Given the description of an element on the screen output the (x, y) to click on. 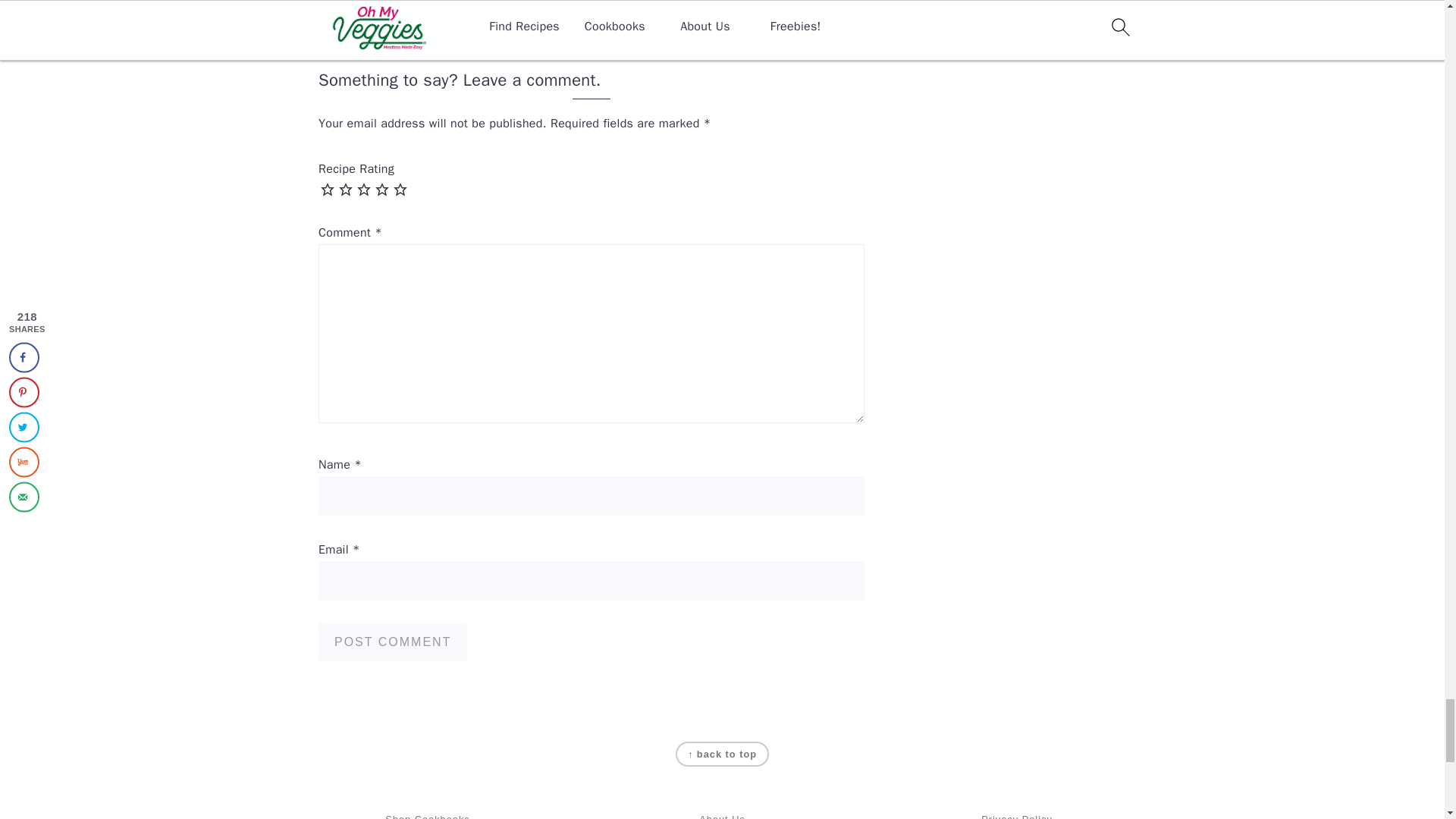
Post Comment (392, 641)
